Given the description of an element on the screen output the (x, y) to click on. 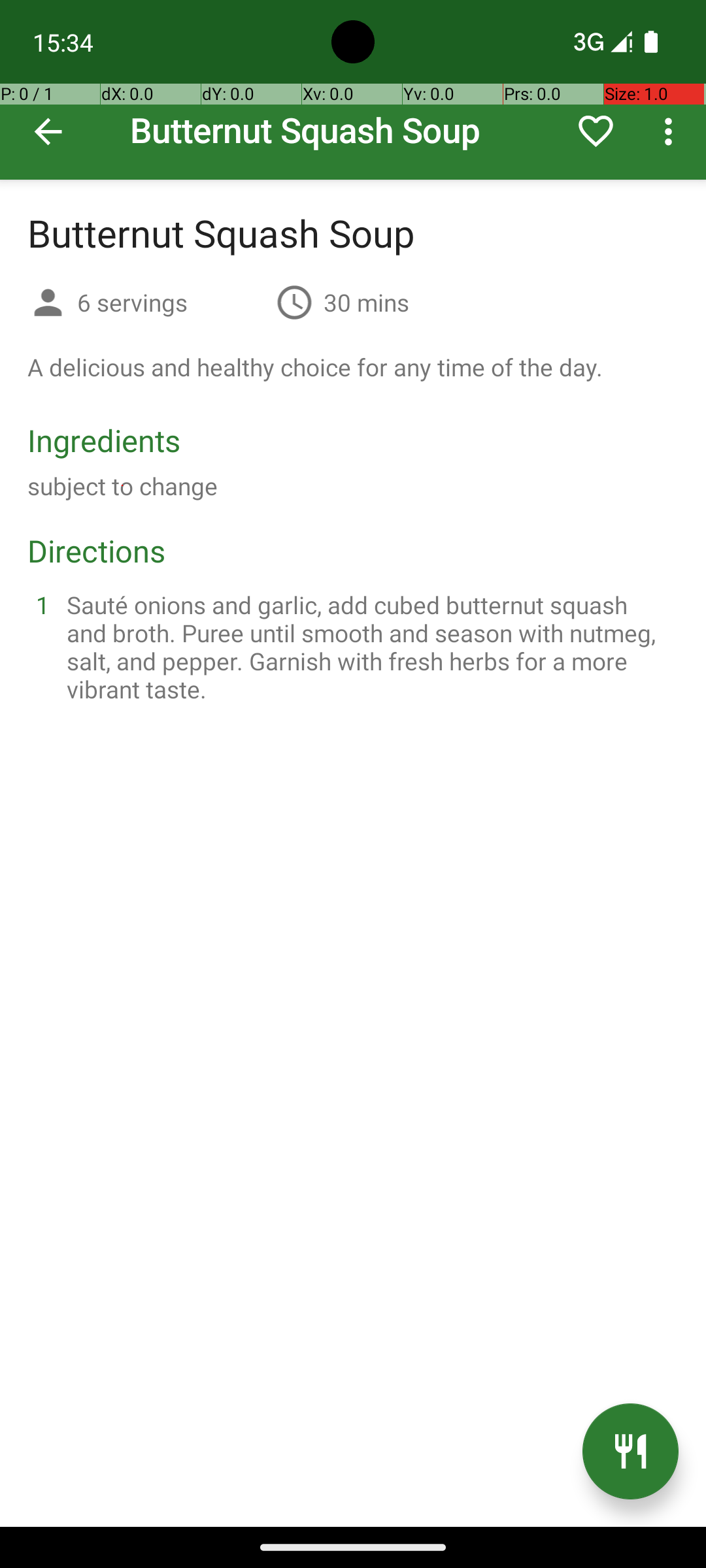
Butternut Squash Soup Element type: android.widget.FrameLayout (353, 89)
Cook Element type: android.widget.ImageButton (630, 1451)
Mark as favorite Element type: android.widget.Button (595, 131)
Servings Element type: android.widget.ImageView (47, 303)
6 servings Element type: android.widget.TextView (170, 301)
30 mins Element type: android.widget.TextView (366, 301)
subject to change Element type: android.widget.TextView (122, 485)
Directions Element type: android.widget.TextView (96, 550)
Sauté onions and garlic, add cubed butternut squash and broth. Puree until smooth and season with nutmeg, salt, and pepper. Garnish with fresh herbs for a more vibrant taste. Element type: android.widget.TextView (368, 646)
